Given the description of an element on the screen output the (x, y) to click on. 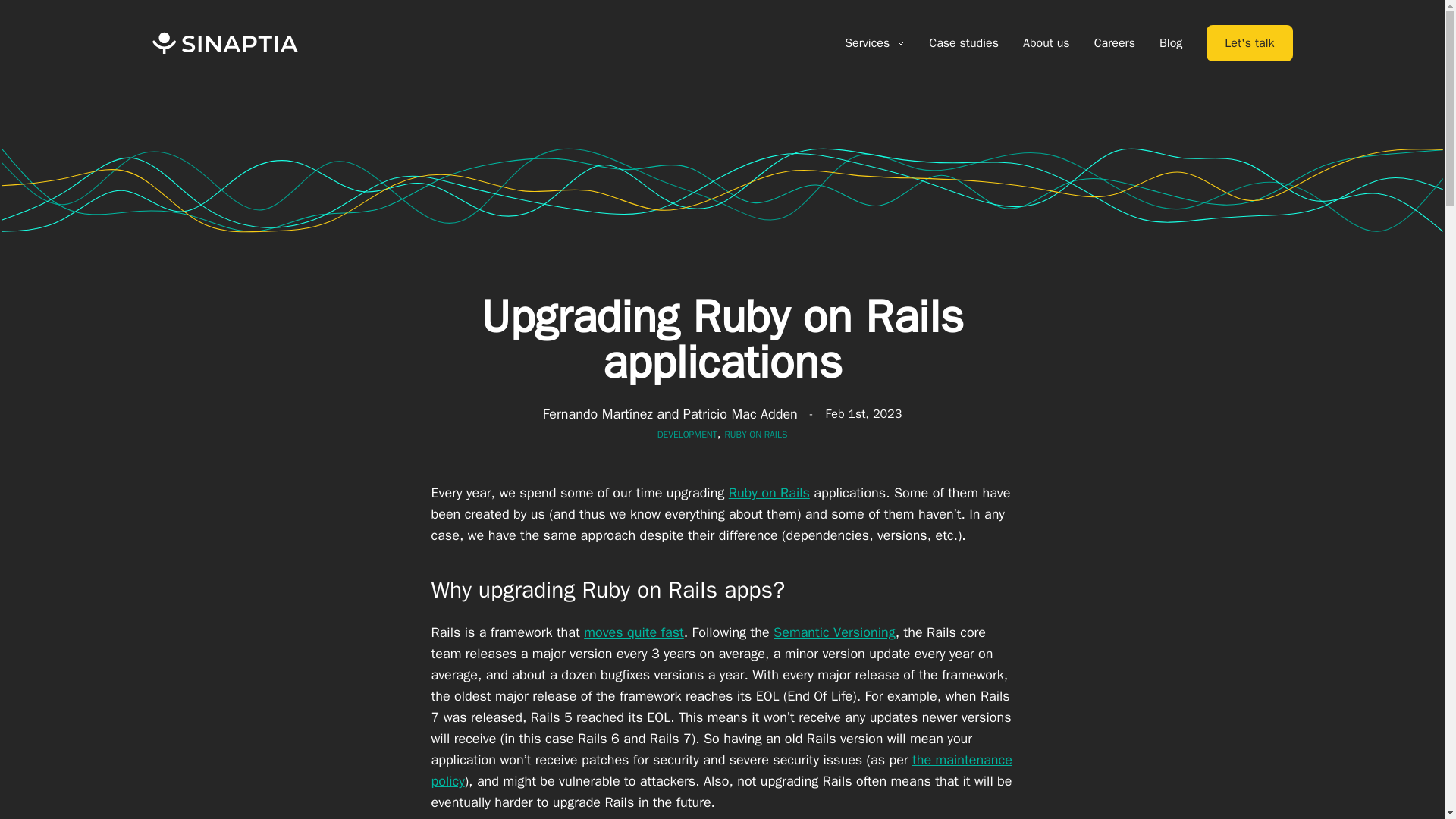
the maintenance policy (720, 770)
RUBY ON RAILS (755, 434)
Semantic Versioning (834, 632)
Careers (1114, 43)
Let's talk (1249, 43)
About us (1046, 43)
Blog (1170, 43)
moves quite fast (633, 632)
Ruby on Rails (769, 492)
Services (874, 43)
DEVELOPMENT (687, 434)
Case studies (963, 43)
